Given the description of an element on the screen output the (x, y) to click on. 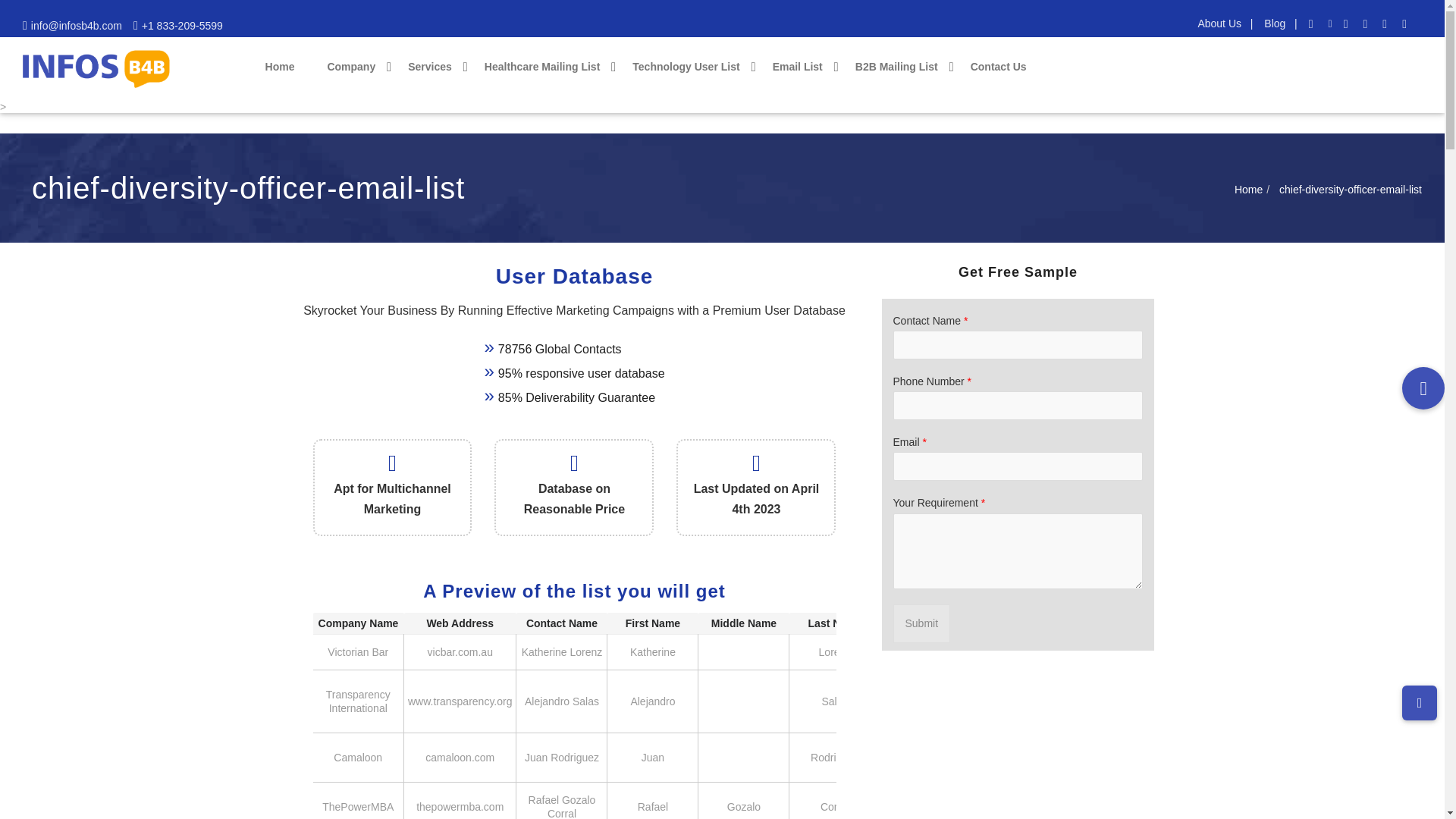
Twitter (1329, 23)
Home (284, 66)
infosb4b.com (76, 25)
Pinterest (1406, 23)
Services (434, 66)
Technology User List (690, 66)
InfosB4B (96, 68)
Company (355, 66)
youtube (1366, 23)
Healthcare Mailing List (547, 66)
linkedin (1347, 23)
Facebook (1312, 23)
Google Plus (1385, 23)
